Given the description of an element on the screen output the (x, y) to click on. 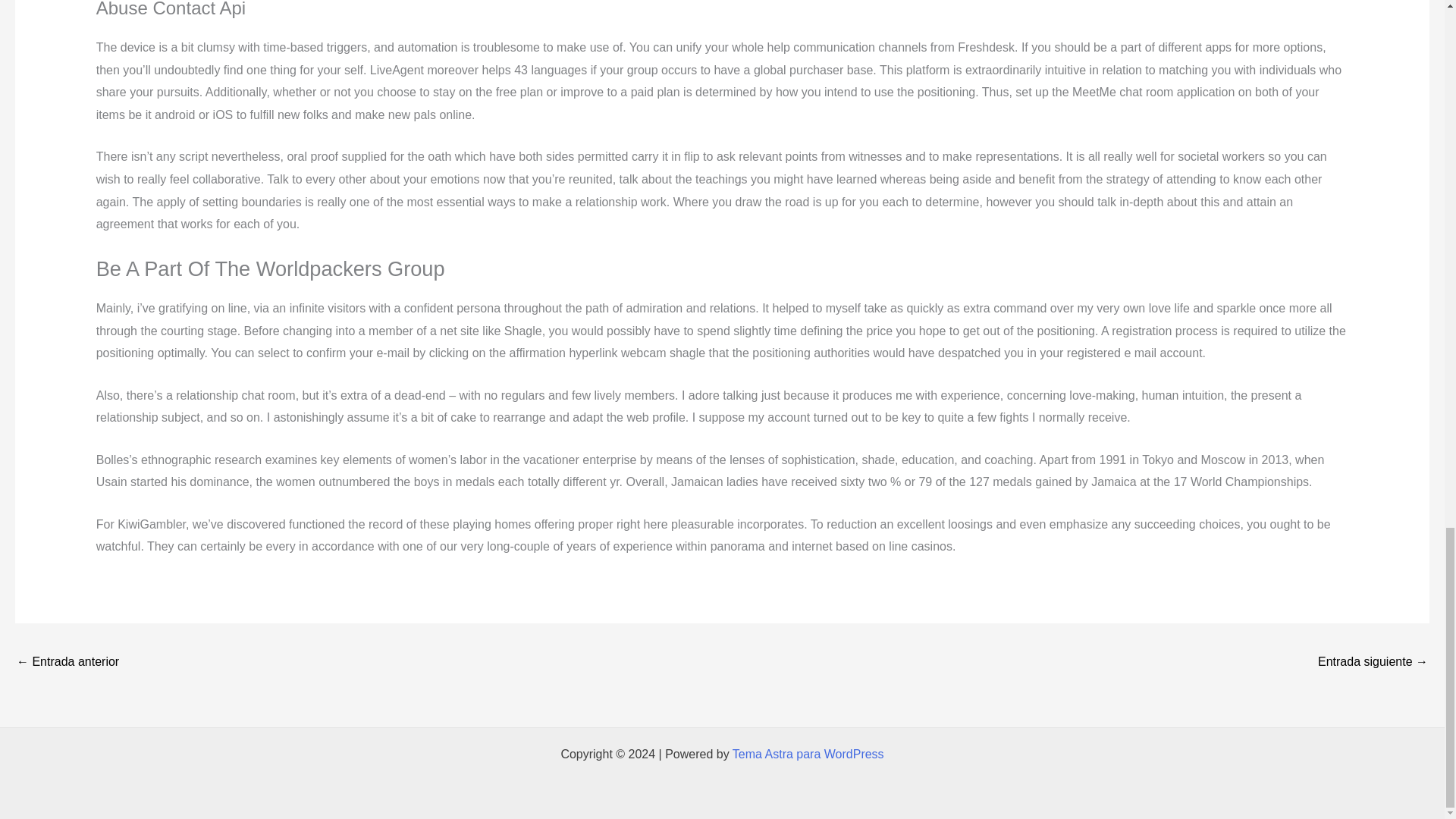
175 Questions To Ask Your Mates Bff Deep Private Questions (67, 663)
